Given the description of an element on the screen output the (x, y) to click on. 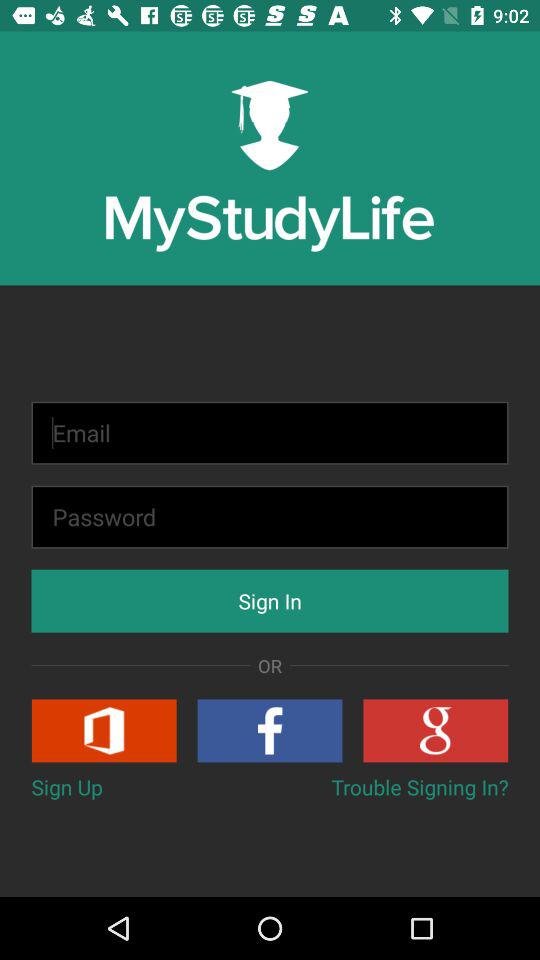
choose button above trouble signing in? icon (269, 730)
